Given the description of an element on the screen output the (x, y) to click on. 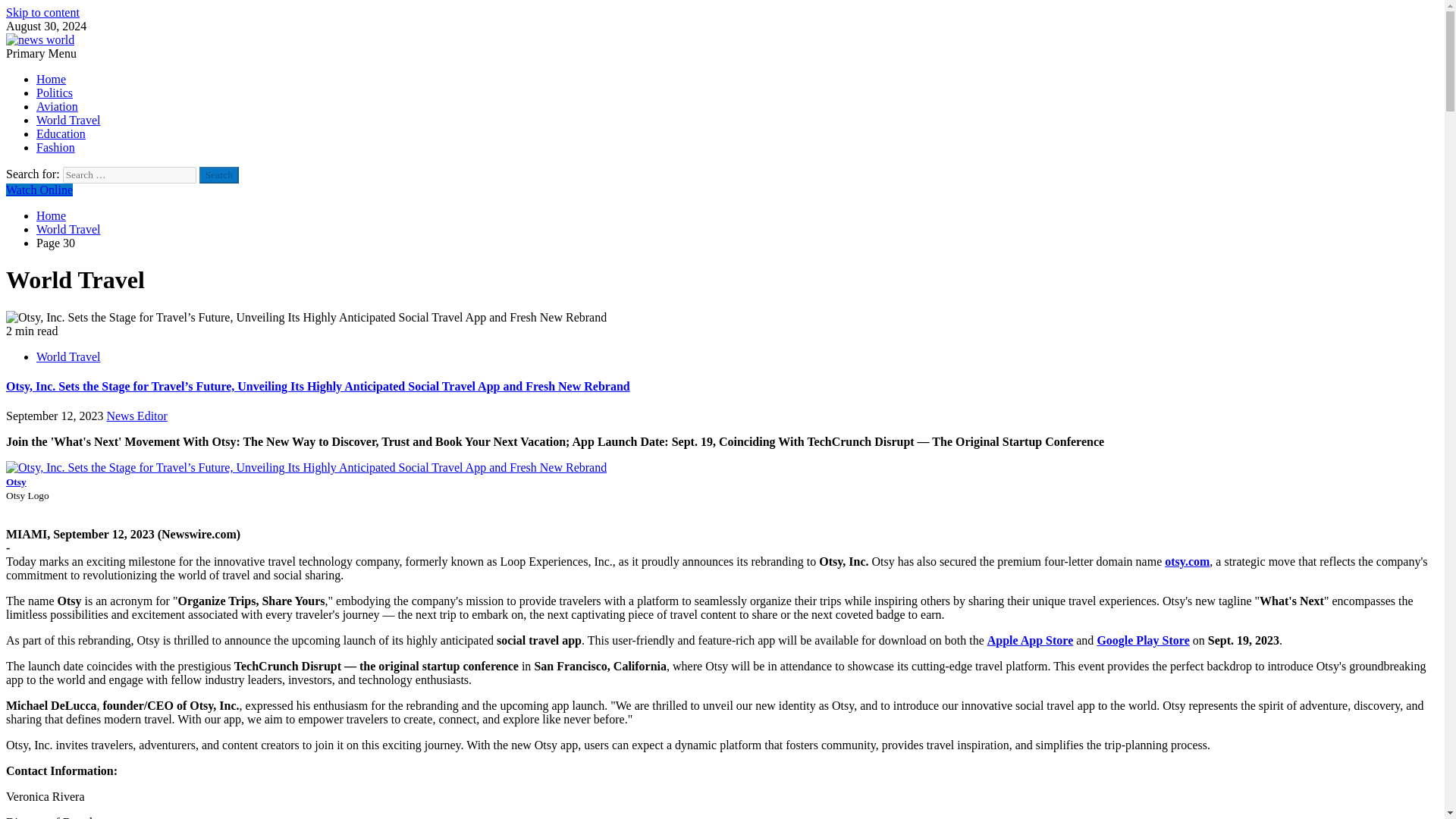
Fashion (55, 146)
Primary Menu (41, 52)
Education (60, 133)
World Travel (68, 228)
World Travel (68, 356)
otsy.com (1186, 561)
Home (50, 78)
Search (218, 175)
Watch Online (38, 189)
Google Play Store (1142, 640)
